Given the description of an element on the screen output the (x, y) to click on. 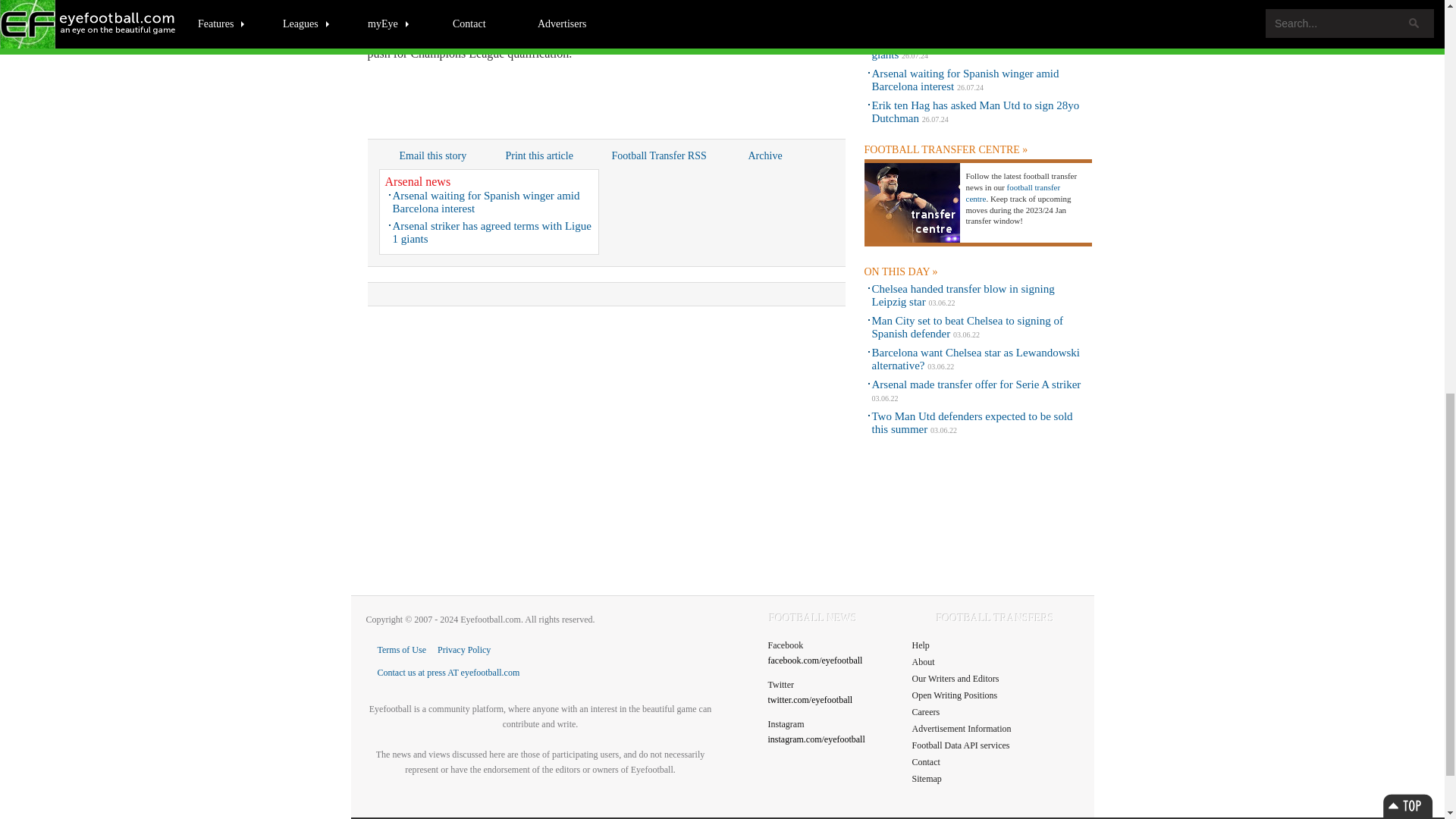
Arsenal (385, 37)
